Given the description of an element on the screen output the (x, y) to click on. 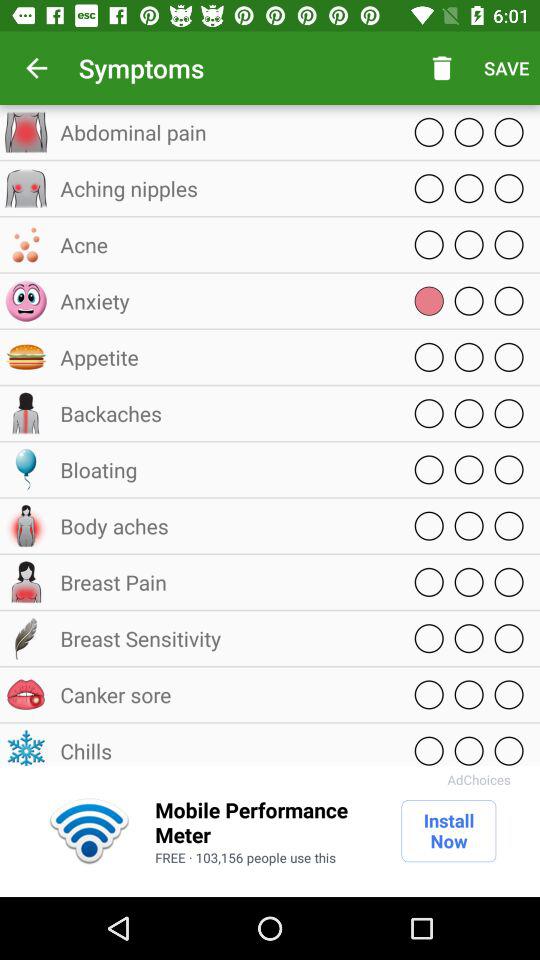
click icon above anxiety item (225, 244)
